Given the description of an element on the screen output the (x, y) to click on. 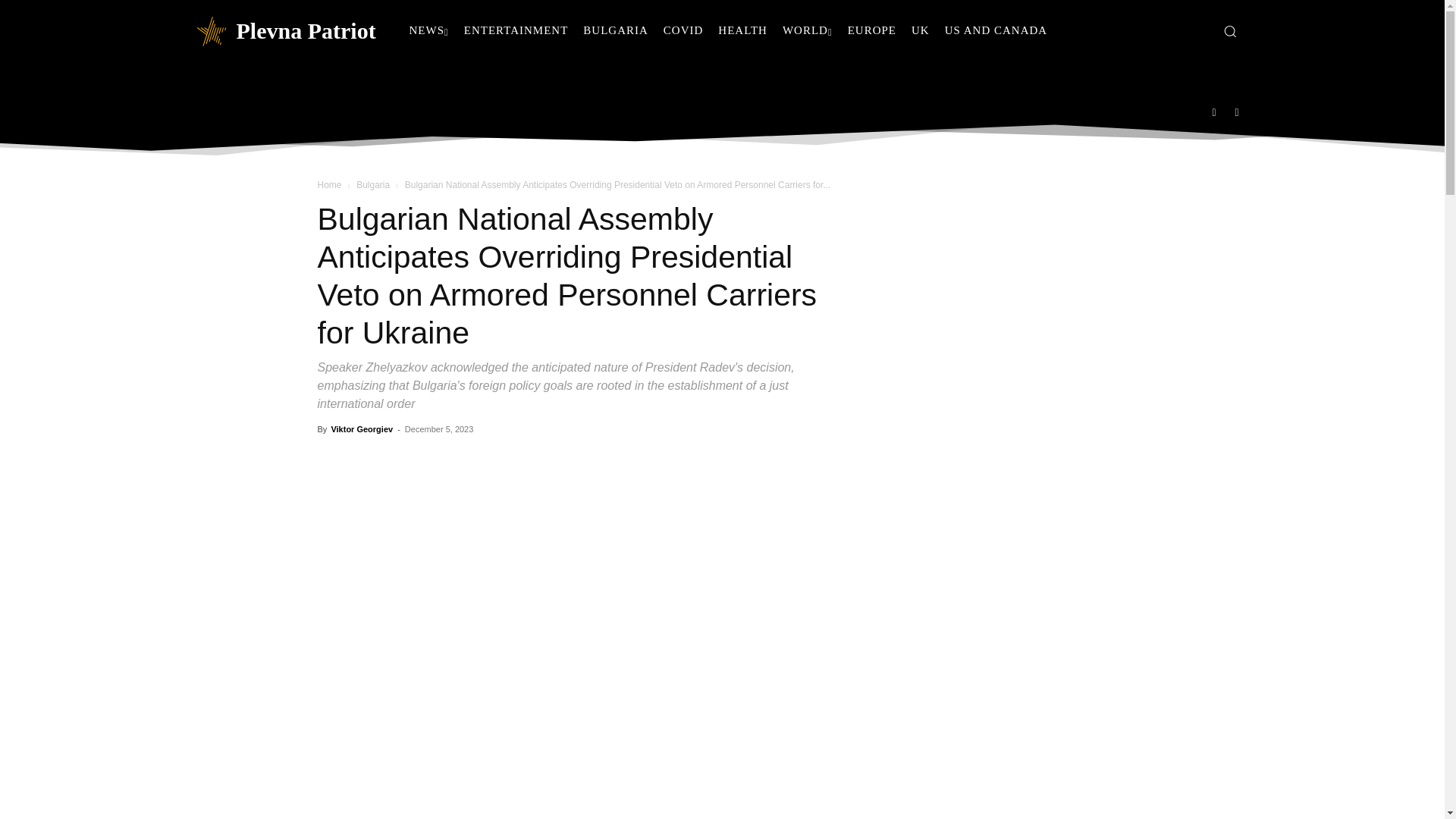
Bulgaria (373, 184)
NEWS (429, 30)
ENTERTAINMENT (516, 30)
EUROPE (872, 30)
Facebook (1214, 111)
HEALTH (742, 30)
View all posts in Bulgaria (373, 184)
COVID (683, 30)
BULGARIA (615, 30)
Plevna Patriot (284, 30)
